Given the description of an element on the screen output the (x, y) to click on. 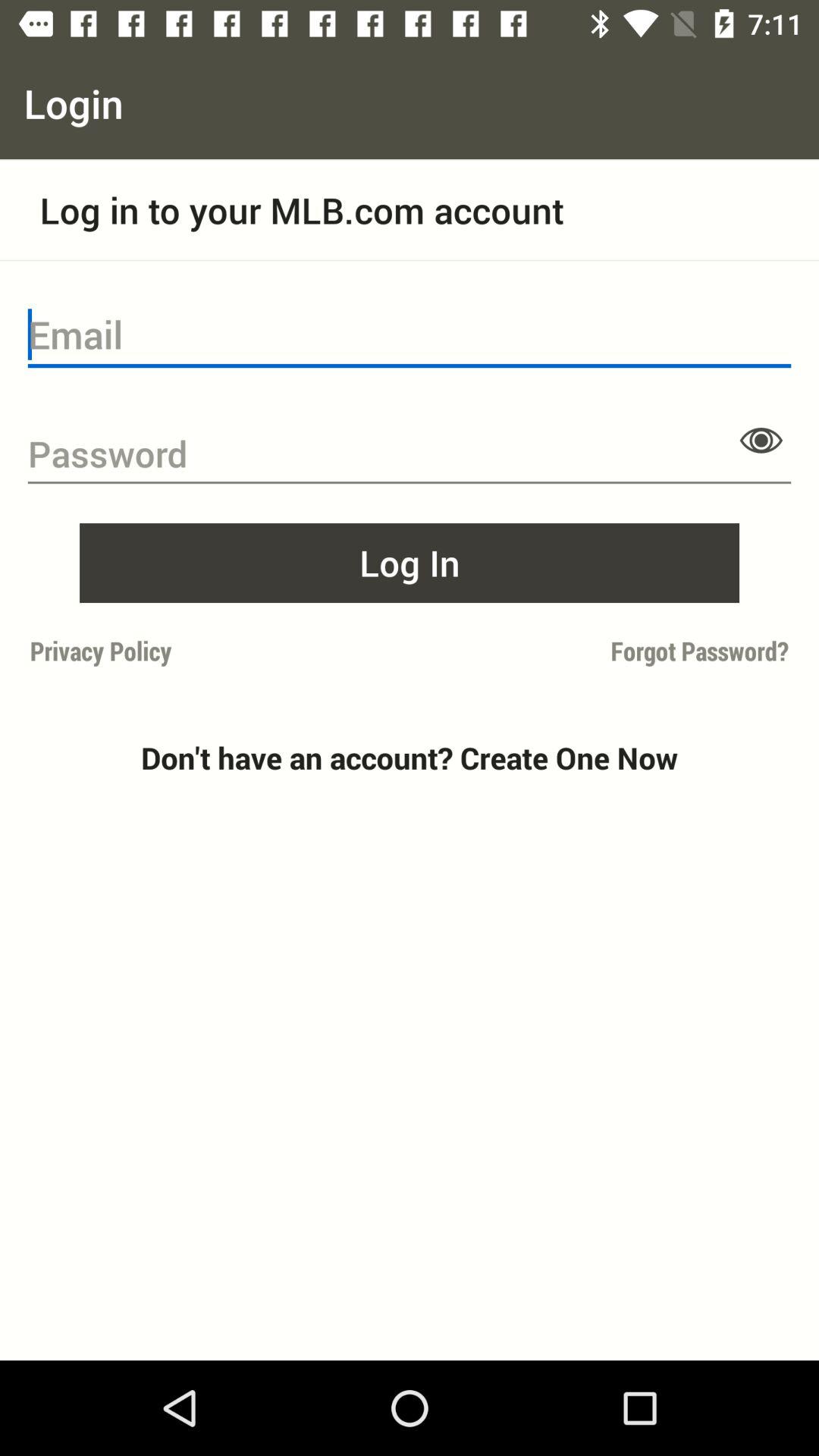
tap item above don t have (604, 650)
